Given the description of an element on the screen output the (x, y) to click on. 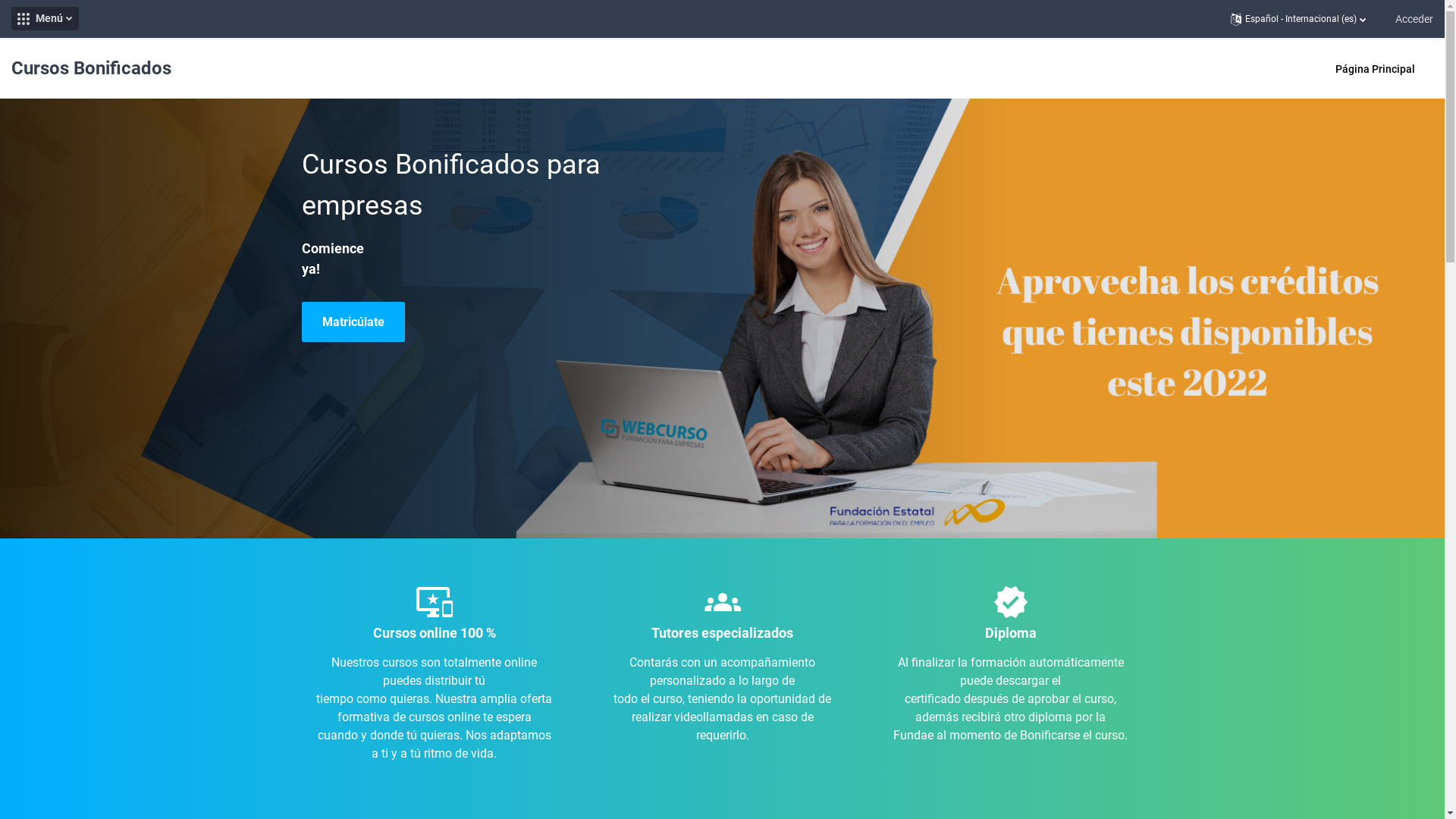
Acceder Element type: text (1414, 18)
Cursos Bonificados Element type: text (91, 83)
